Given the description of an element on the screen output the (x, y) to click on. 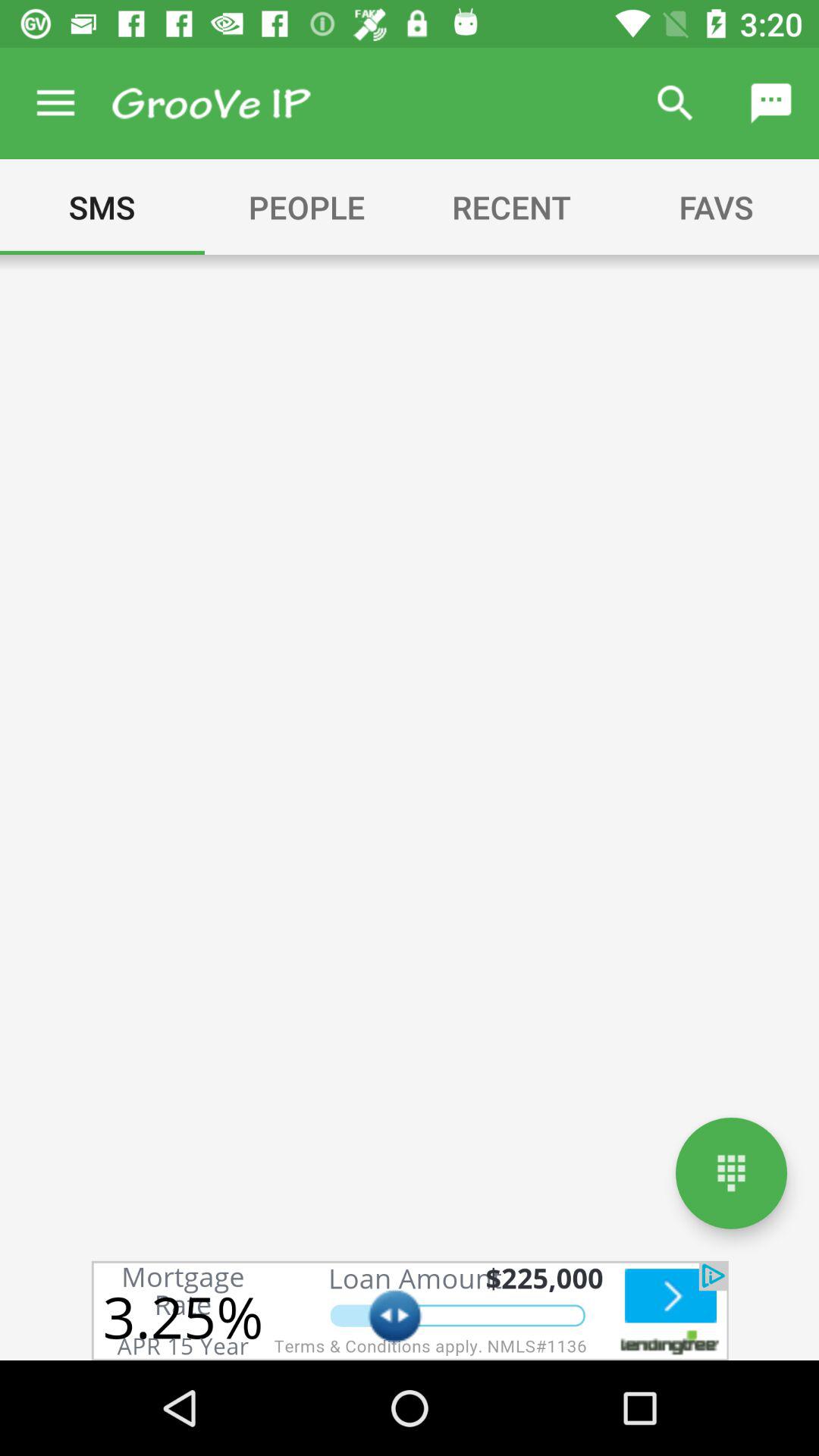
open advertisement (409, 1310)
